Given the description of an element on the screen output the (x, y) to click on. 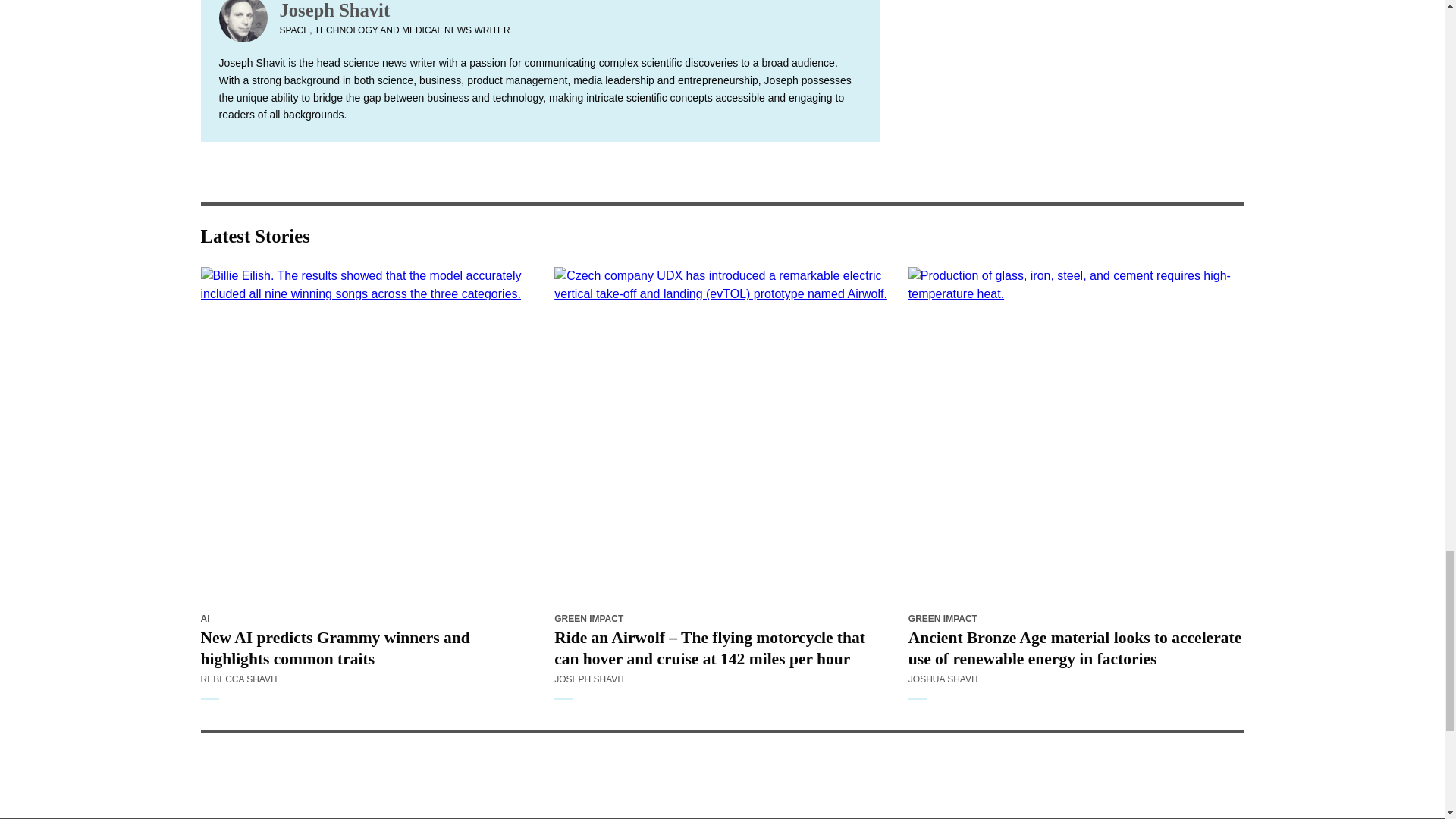
REBECCA SHAVIT (239, 679)
GREEN IMPACT (588, 618)
New AI predicts Grammy winners and highlights common traits (367, 648)
Joseph Shavit (394, 11)
JOSHUA SHAVIT (943, 679)
GREEN IMPACT (942, 618)
New AI predicts Grammy winners and highlights common traits (367, 434)
JOSEPH SHAVIT (590, 679)
